Given the description of an element on the screen output the (x, y) to click on. 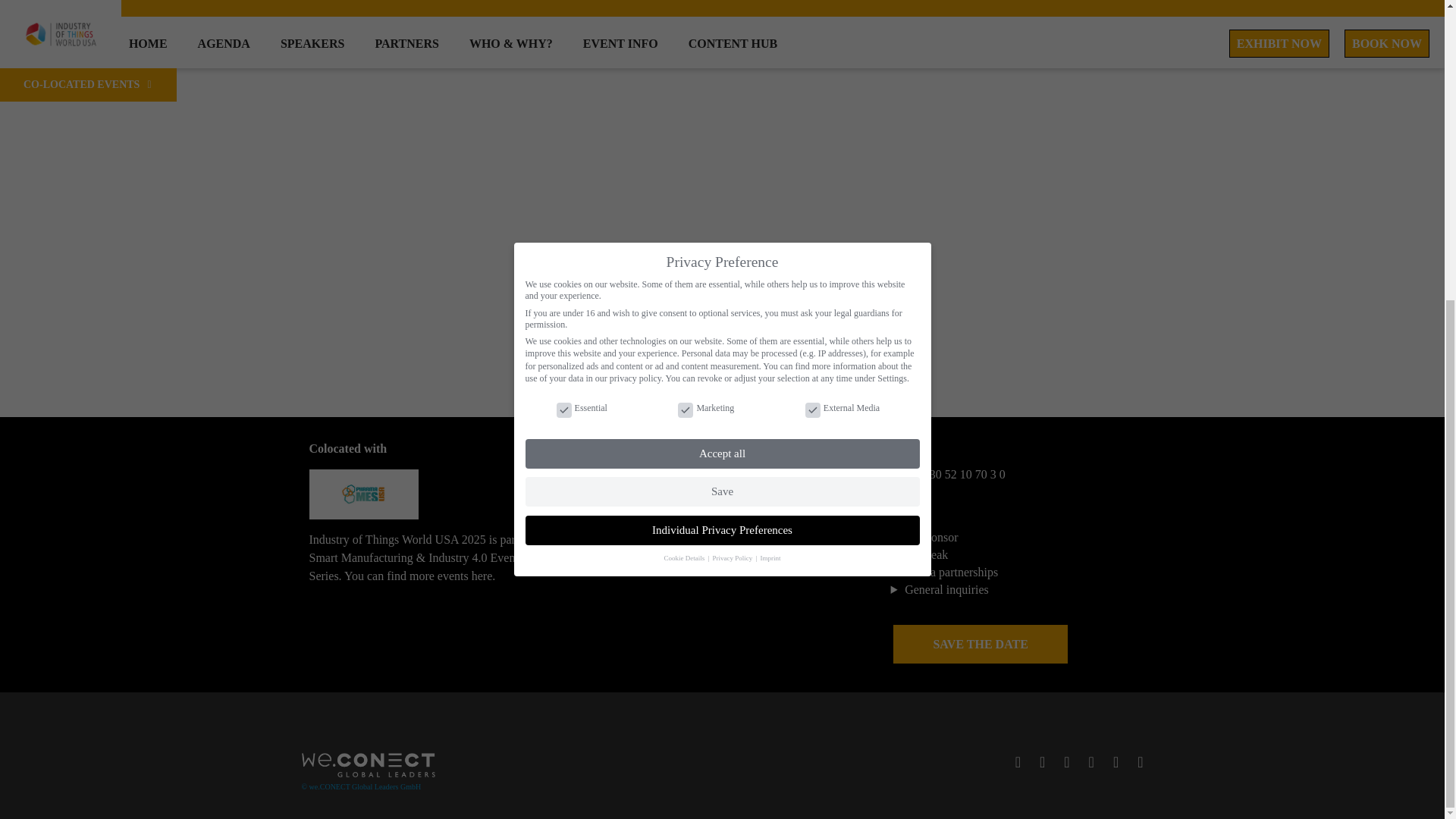
Join us on Xing (1107, 761)
Watch us on Youtube (1132, 761)
Follow us on Instagram (1058, 761)
Pharma MES USA 2025 (364, 500)
we.CONECT Global Leaders GmbH (368, 773)
Pharma MES USA 2025 (364, 494)
we.CONECT Global Leaders GmbH (361, 786)
Join us on Linked In (1084, 761)
Join us on Twitter (1035, 761)
Like us on Facebook (1010, 761)
